Given the description of an element on the screen output the (x, y) to click on. 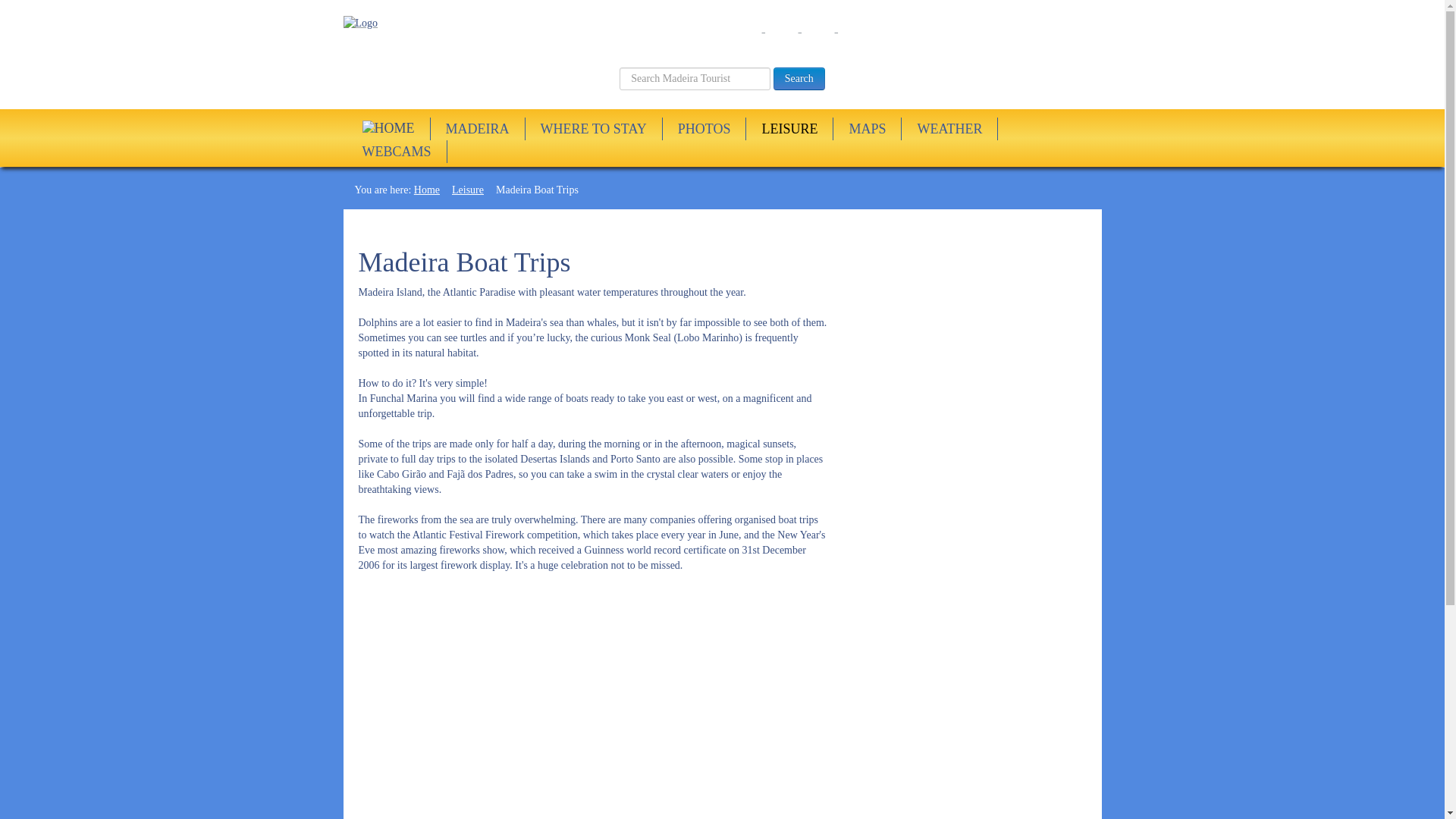
MAPS (866, 129)
PHOTOS (704, 129)
MADEIRA (476, 129)
LEISURE (789, 129)
WHERE TO STAY (593, 129)
Home (426, 189)
Leisure (467, 189)
Search (799, 78)
WEBCAMS (395, 152)
WEATHER (948, 129)
